Given the description of an element on the screen output the (x, y) to click on. 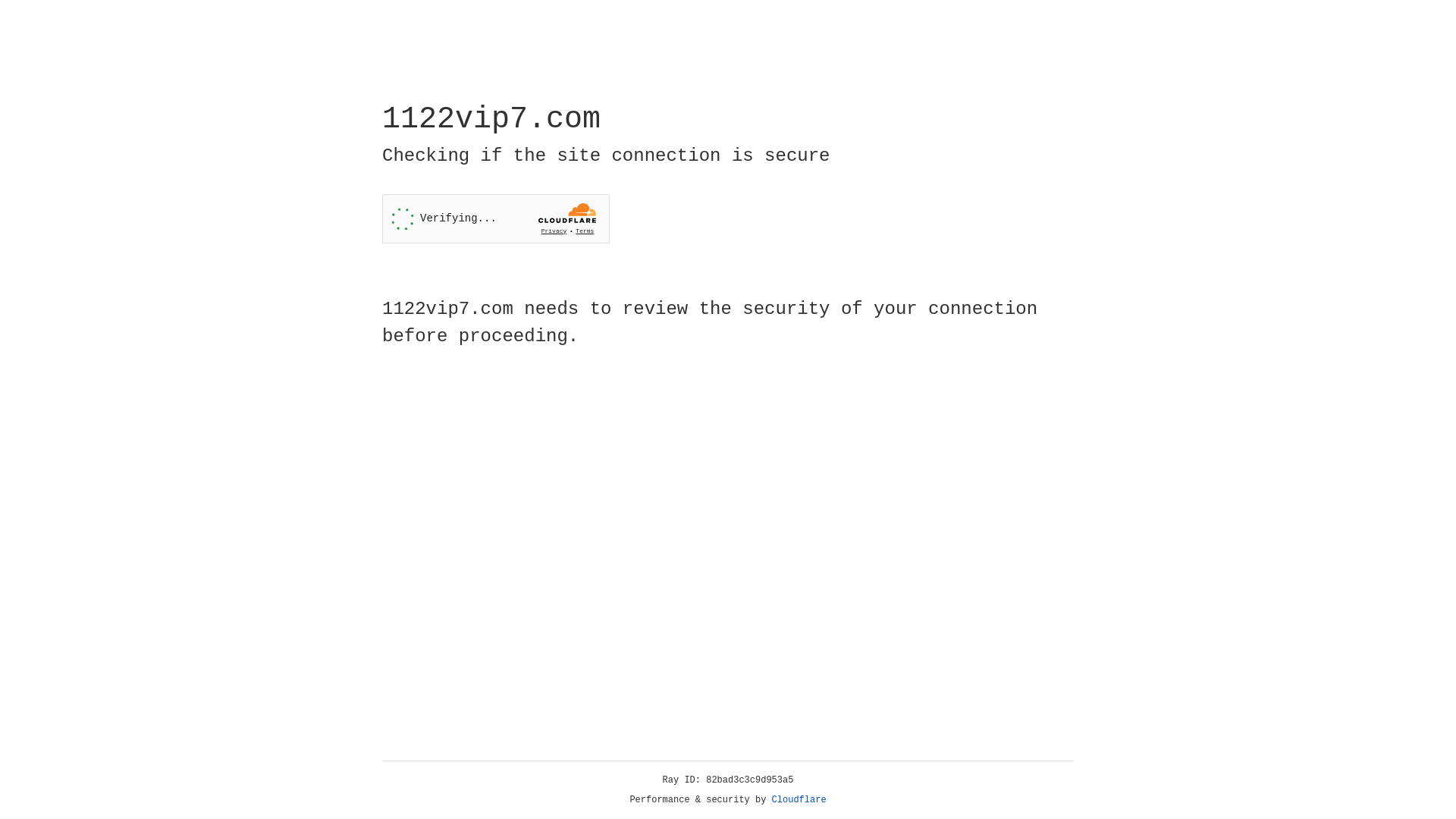
Cloudflare Element type: text (798, 799)
Widget containing a Cloudflare security challenge Element type: hover (495, 218)
